Given the description of an element on the screen output the (x, y) to click on. 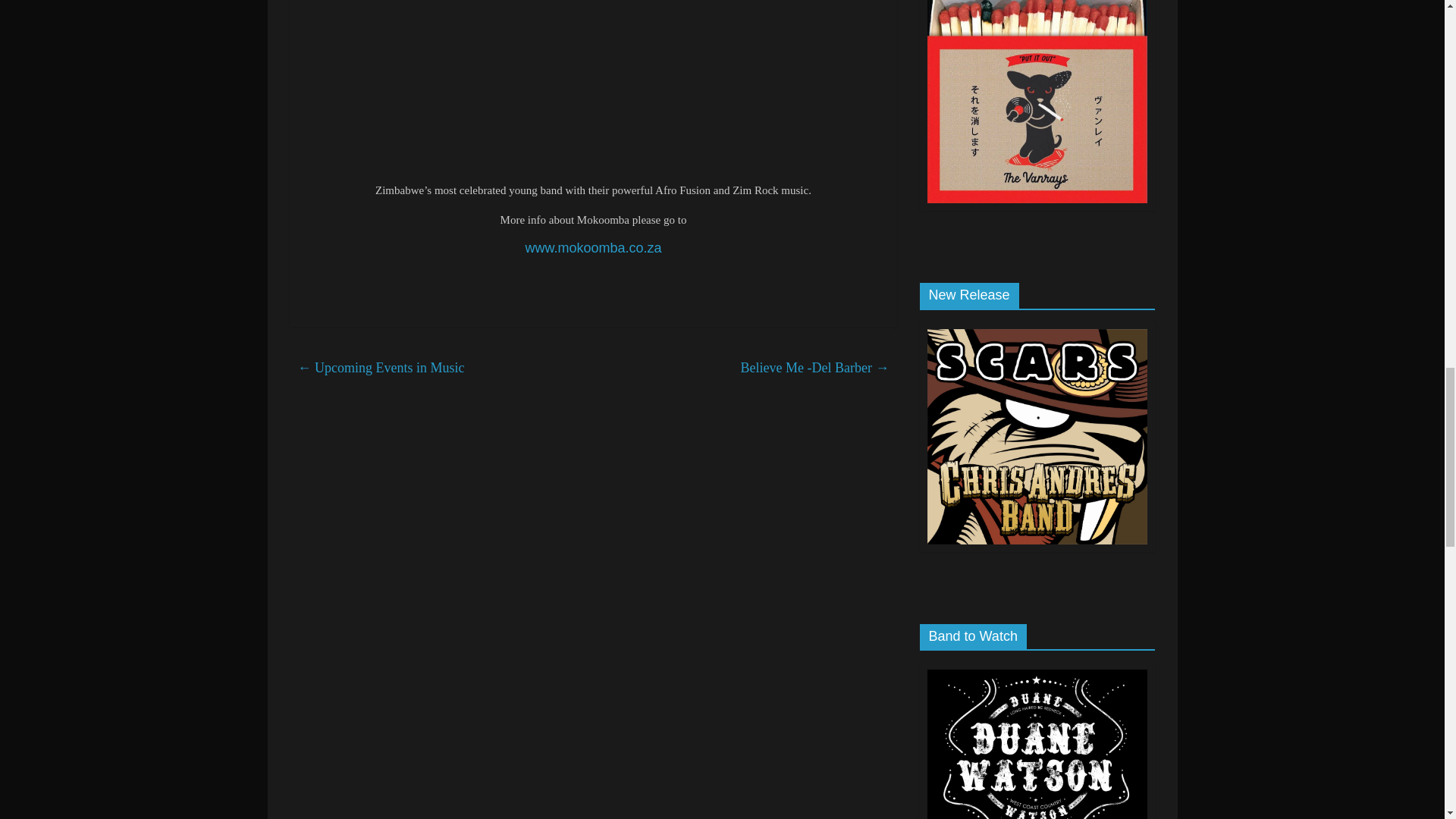
www.mokoomba.co.za (592, 247)
